Given the description of an element on the screen output the (x, y) to click on. 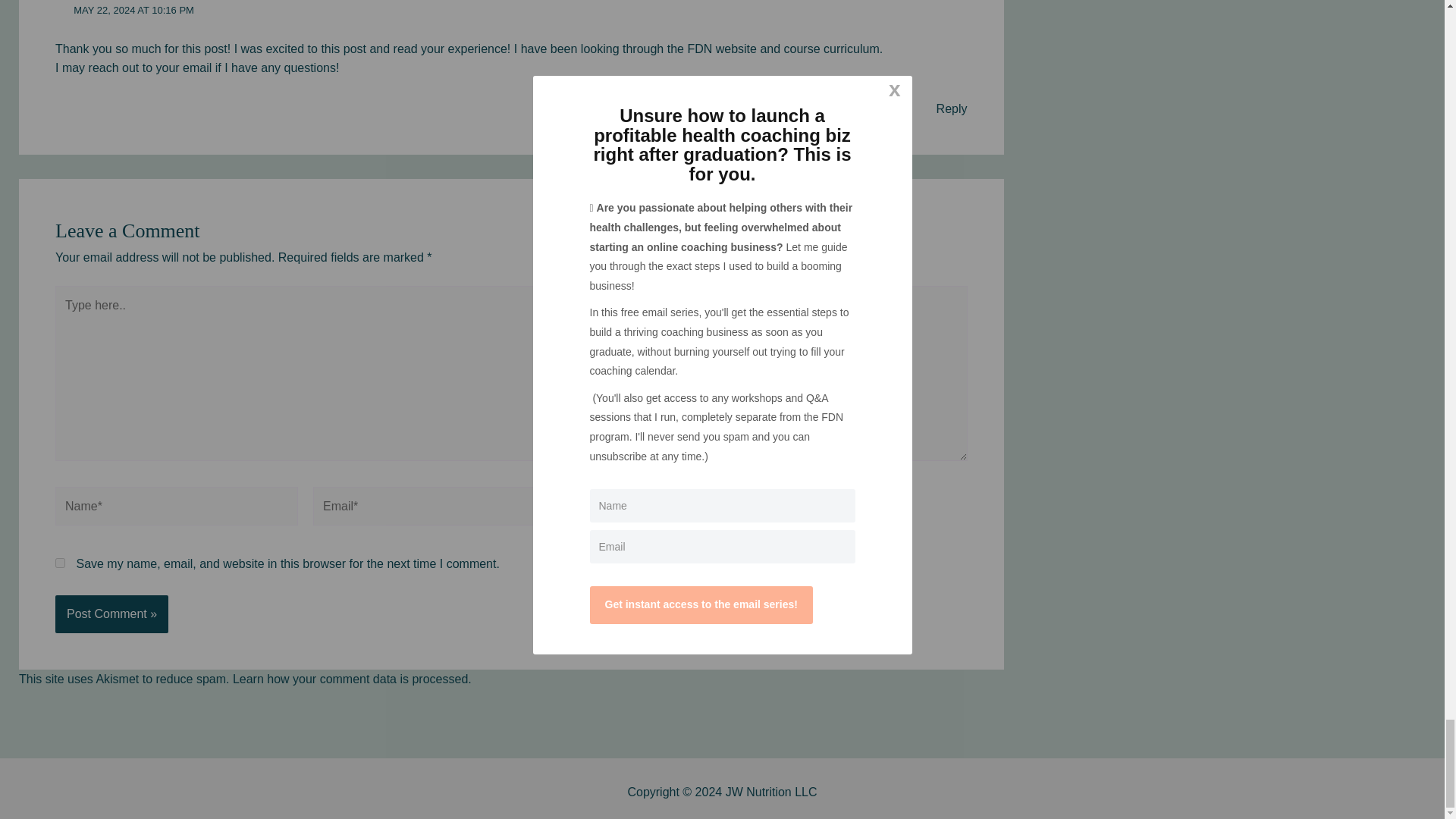
yes (60, 562)
